Given the description of an element on the screen output the (x, y) to click on. 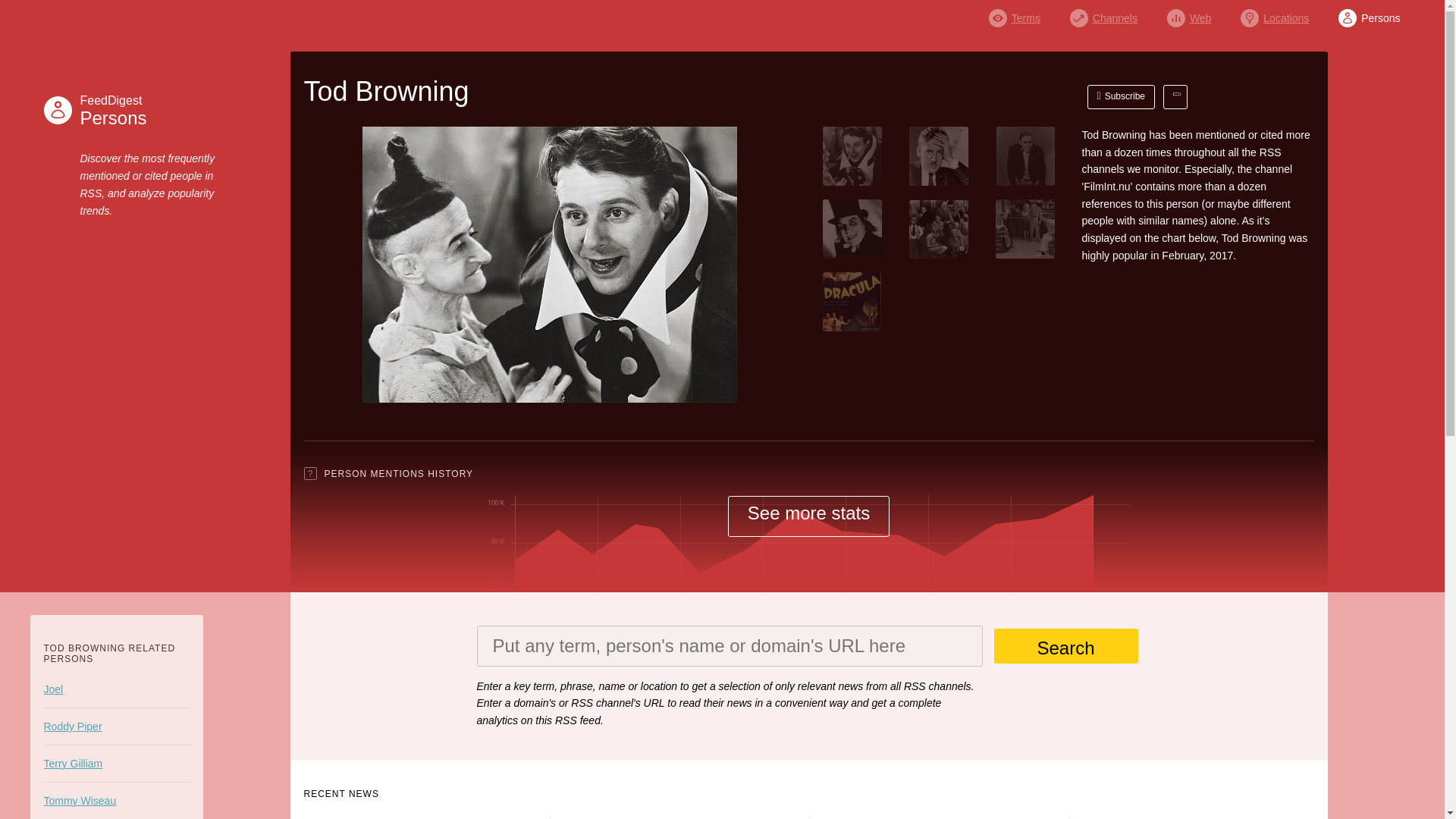
Channels (1103, 14)
Search (1064, 645)
Terms (1014, 14)
Locations (1274, 14)
See more stats (808, 516)
Web (114, 109)
Subscribe (1189, 14)
Persons (1121, 96)
